Given the description of an element on the screen output the (x, y) to click on. 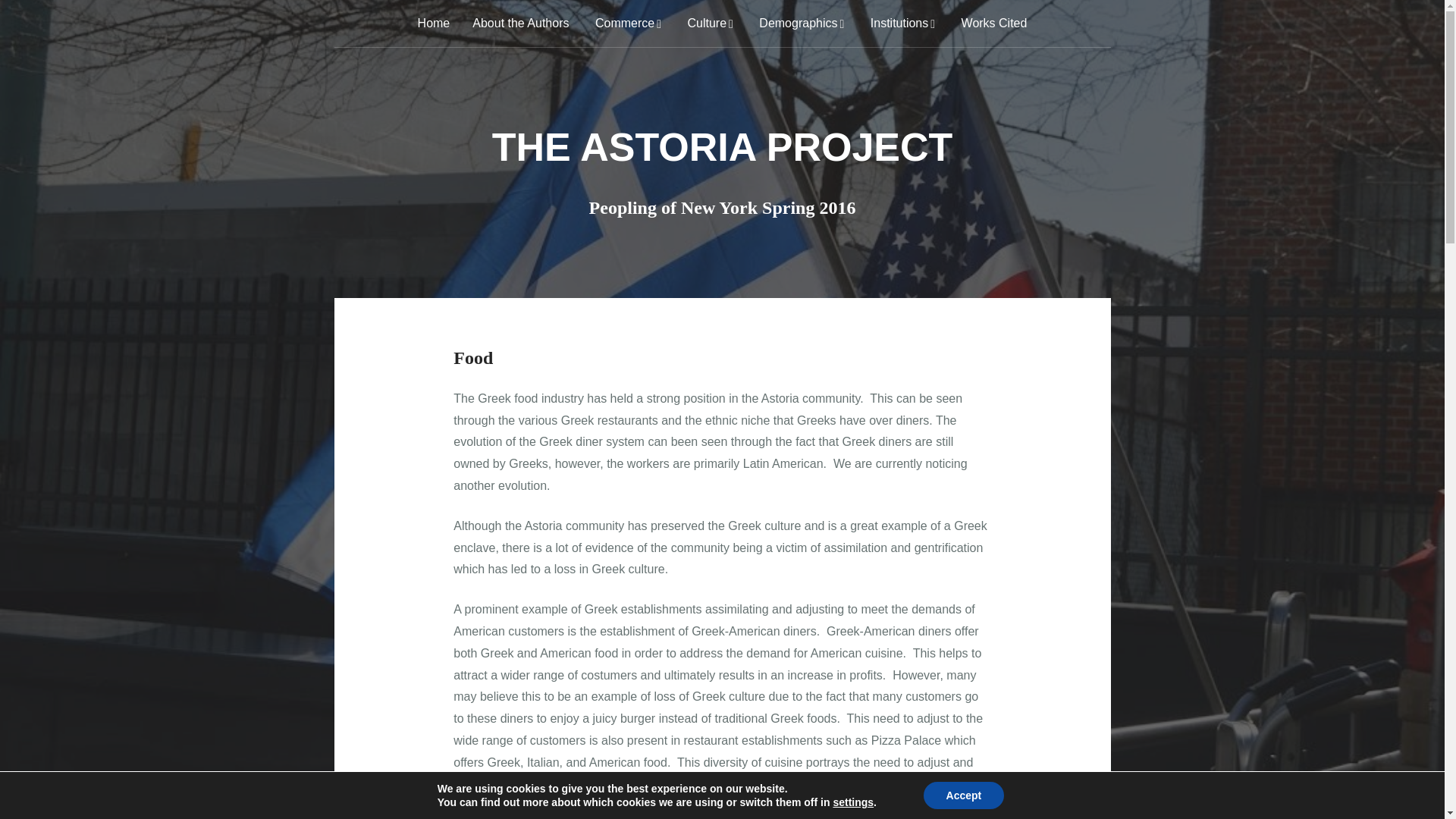
Commerce (627, 23)
Home (433, 23)
About the Authors (520, 23)
